Given the description of an element on the screen output the (x, y) to click on. 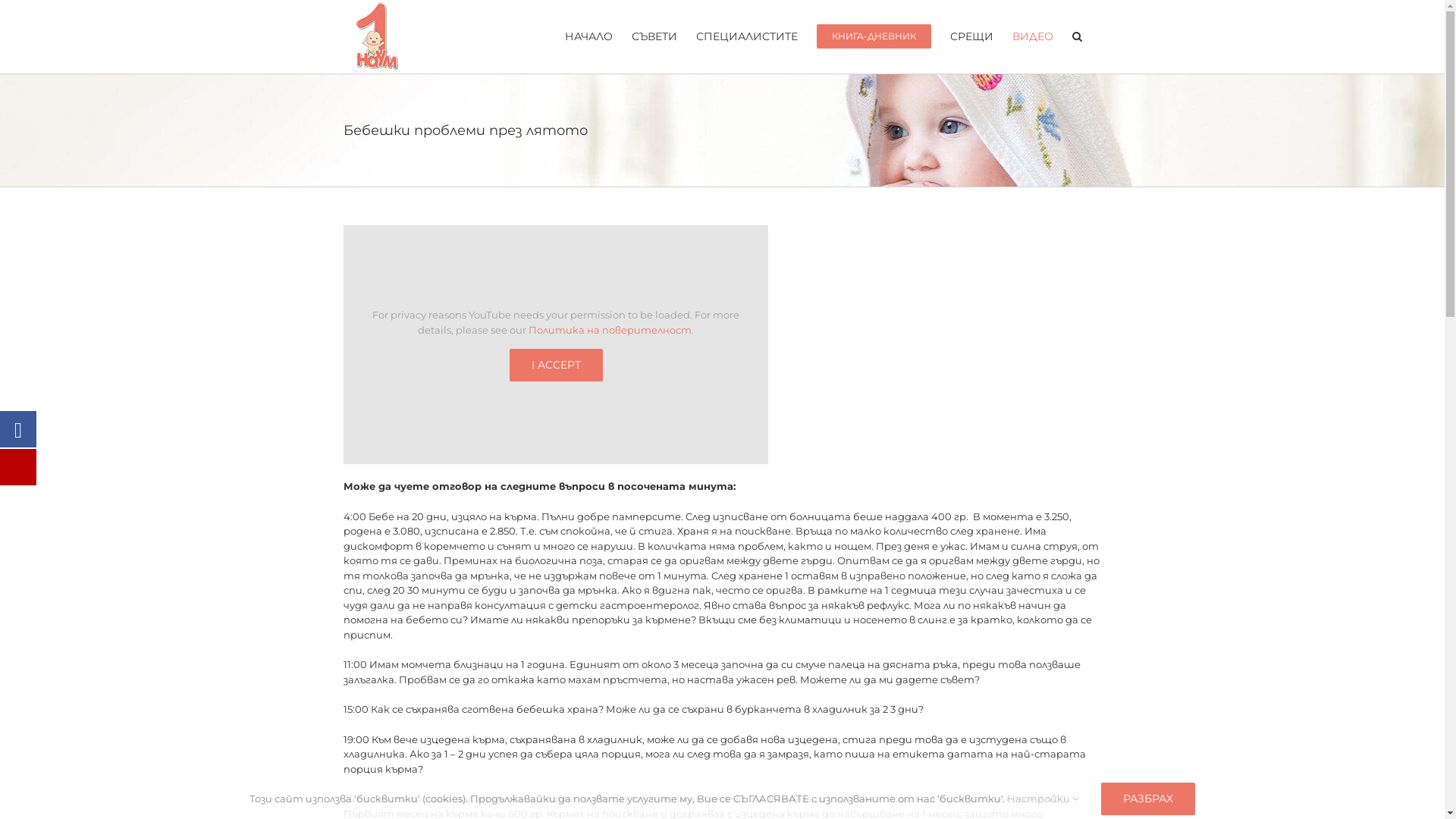
I ACCEPT Element type: text (555, 364)
